Given the description of an element on the screen output the (x, y) to click on. 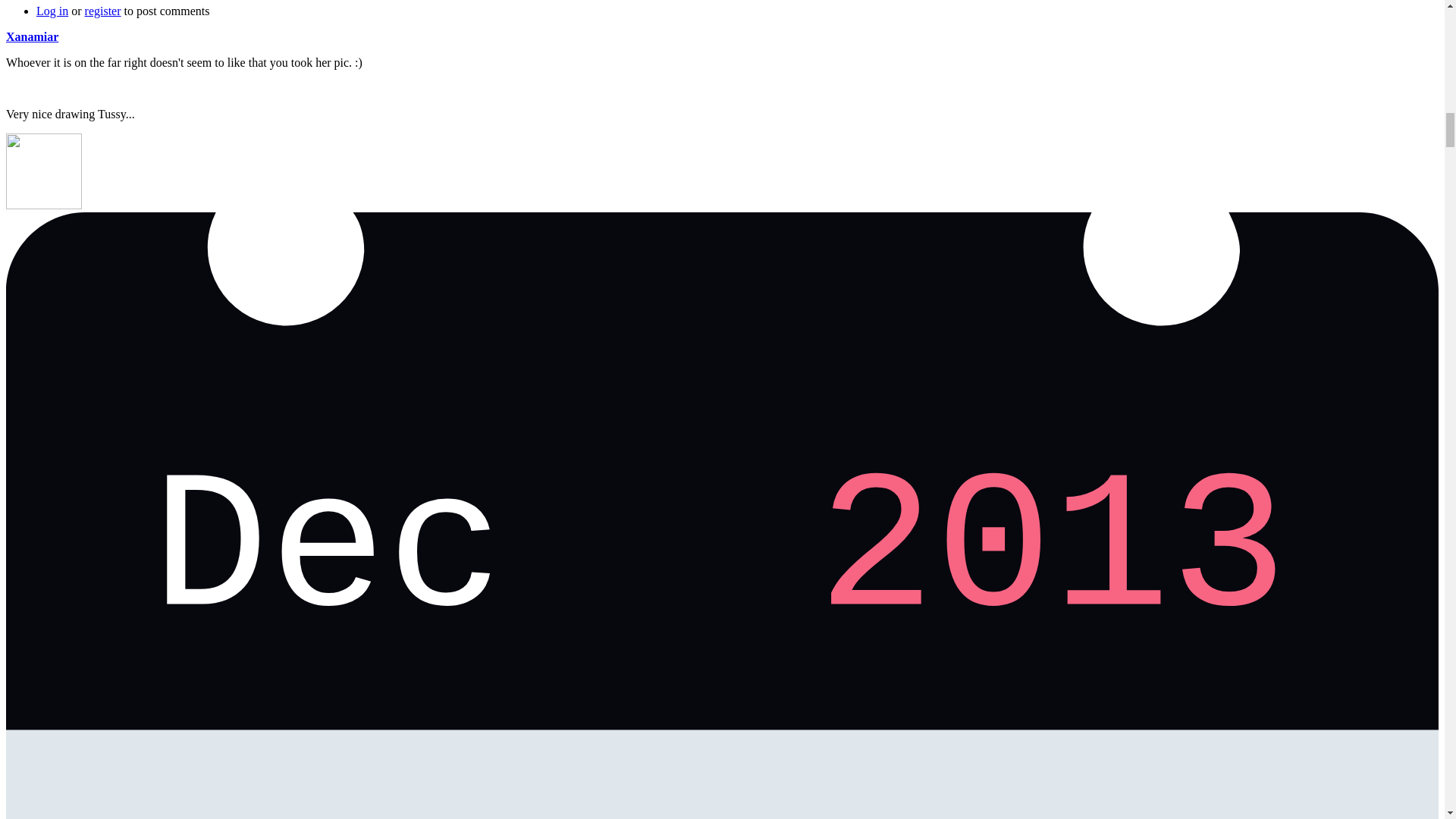
View user profile. (31, 36)
register (102, 10)
Log in (52, 10)
Xanamiar (31, 36)
